Given the description of an element on the screen output the (x, y) to click on. 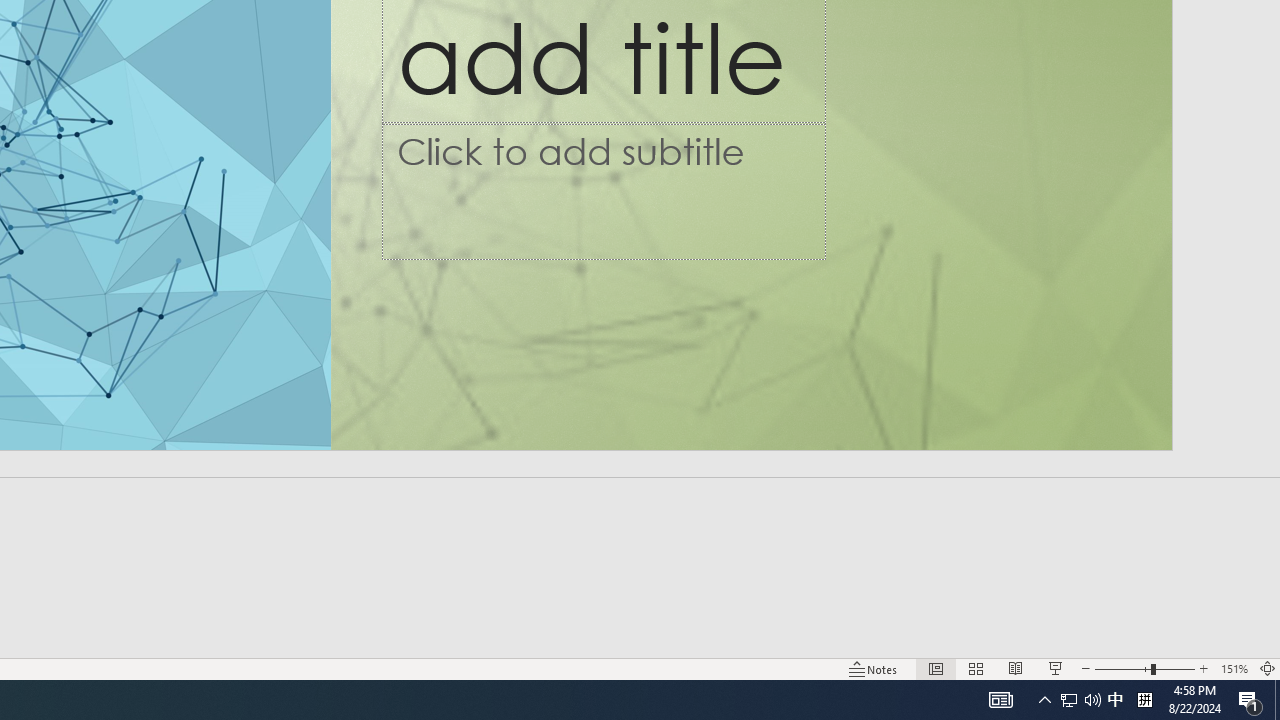
Zoom 151% (1234, 668)
